Given the description of an element on the screen output the (x, y) to click on. 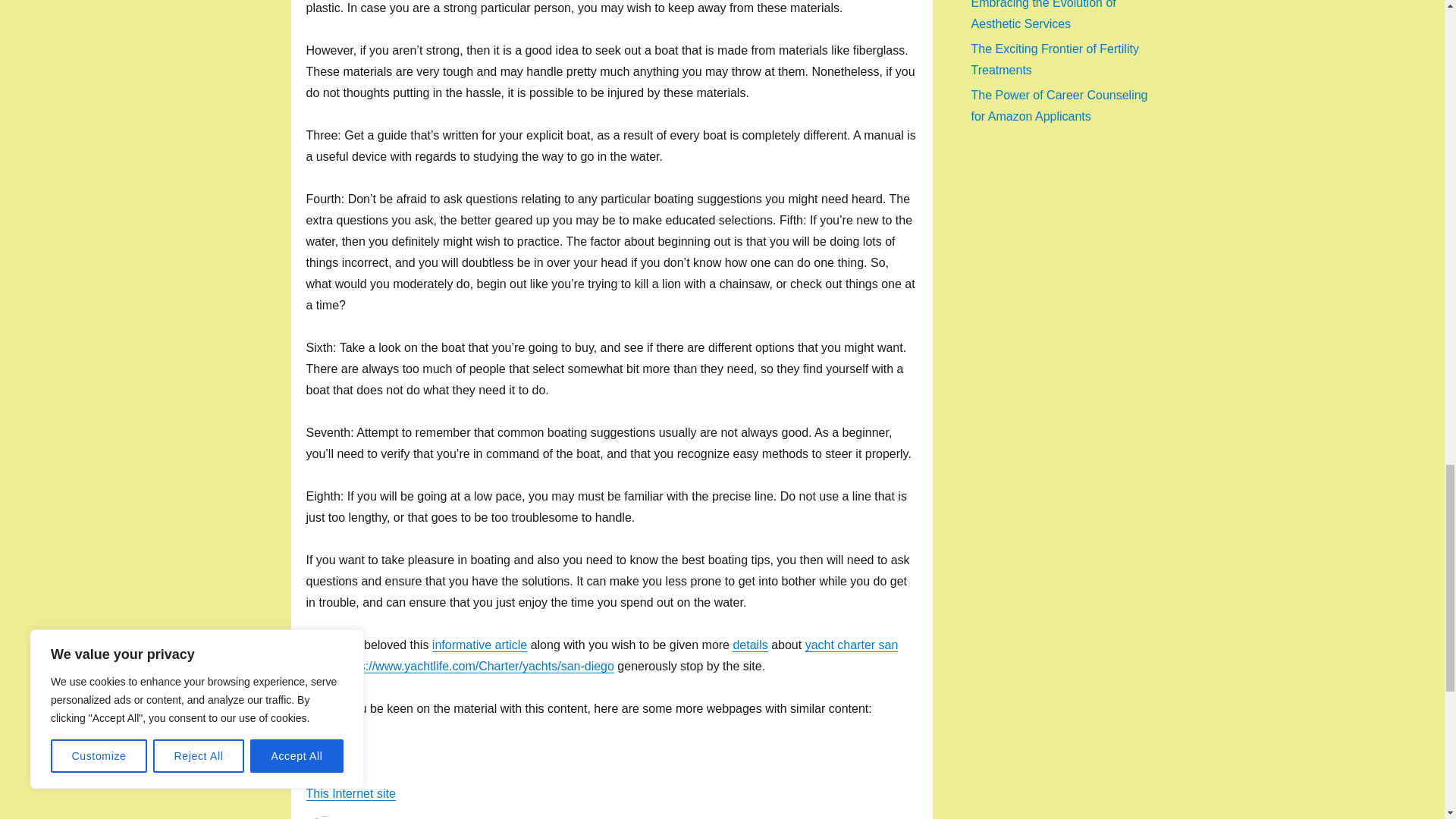
informative article (479, 644)
details (749, 644)
This Internet site (350, 793)
Here. (320, 750)
